Given the description of an element on the screen output the (x, y) to click on. 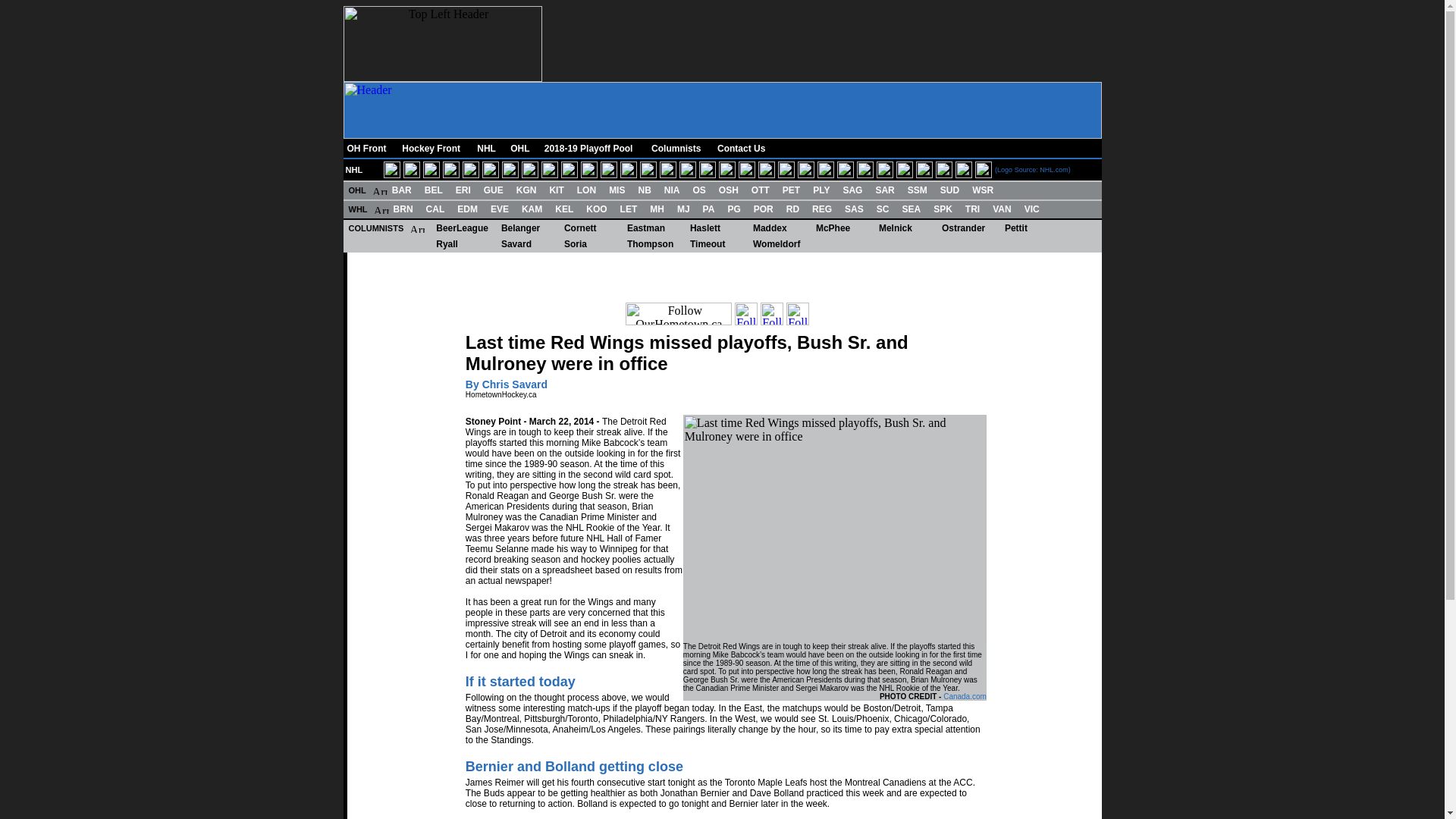
Columnists (677, 148)
OH Front (367, 148)
OHL (521, 148)
Hockey Front (432, 148)
2018-19 Playoff Pool (591, 148)
NHL (486, 148)
BAR (401, 189)
Contact Us (742, 148)
